Given the description of an element on the screen output the (x, y) to click on. 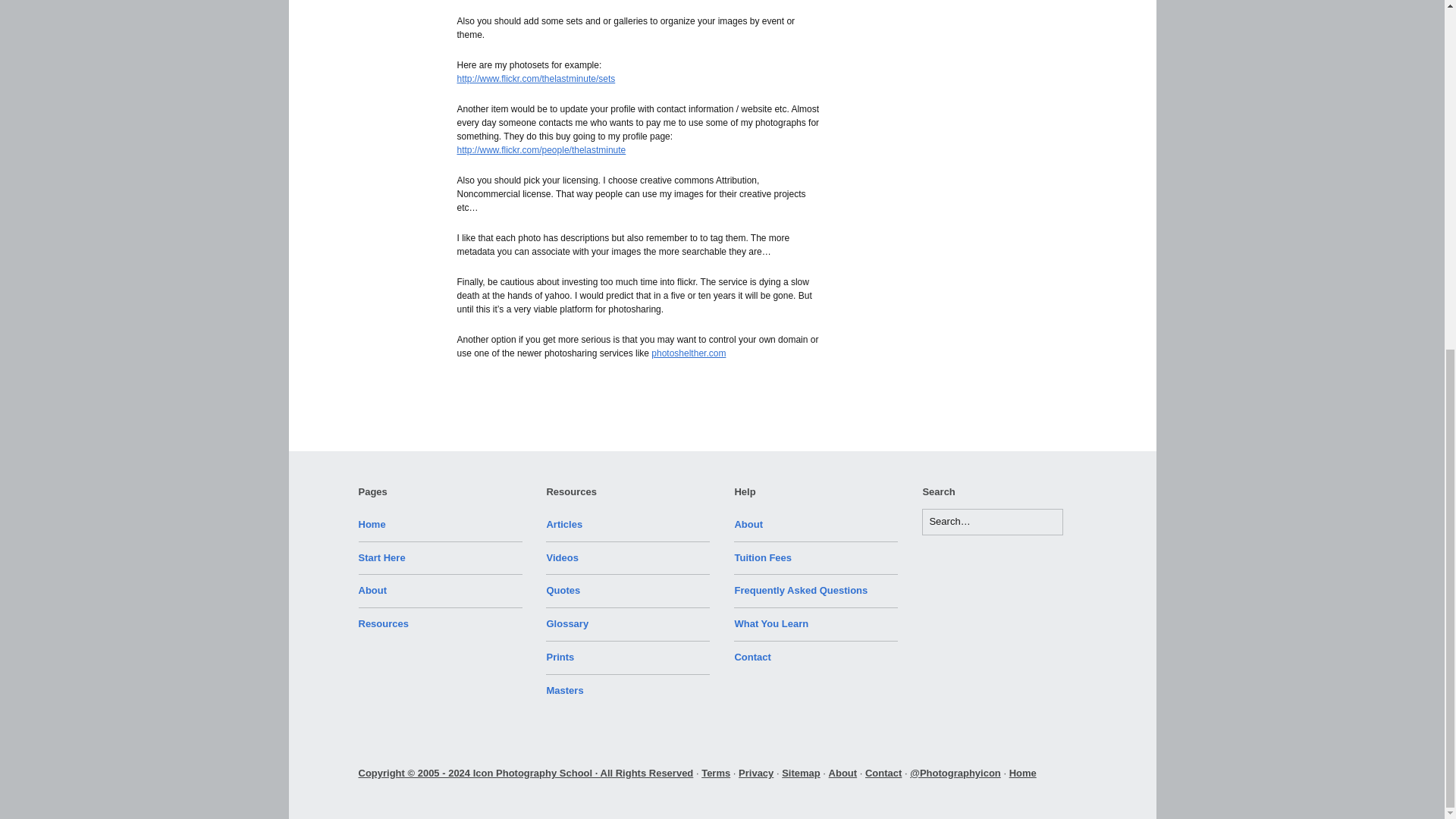
Press Enter to submit your search (991, 521)
Photography Quotes (562, 590)
Photography Articles (564, 523)
Advertisement (992, 31)
Photography Videos (562, 557)
Masters Of Photography (564, 690)
Photography Prints (559, 656)
Photography Glossary (567, 623)
